Given the description of an element on the screen output the (x, y) to click on. 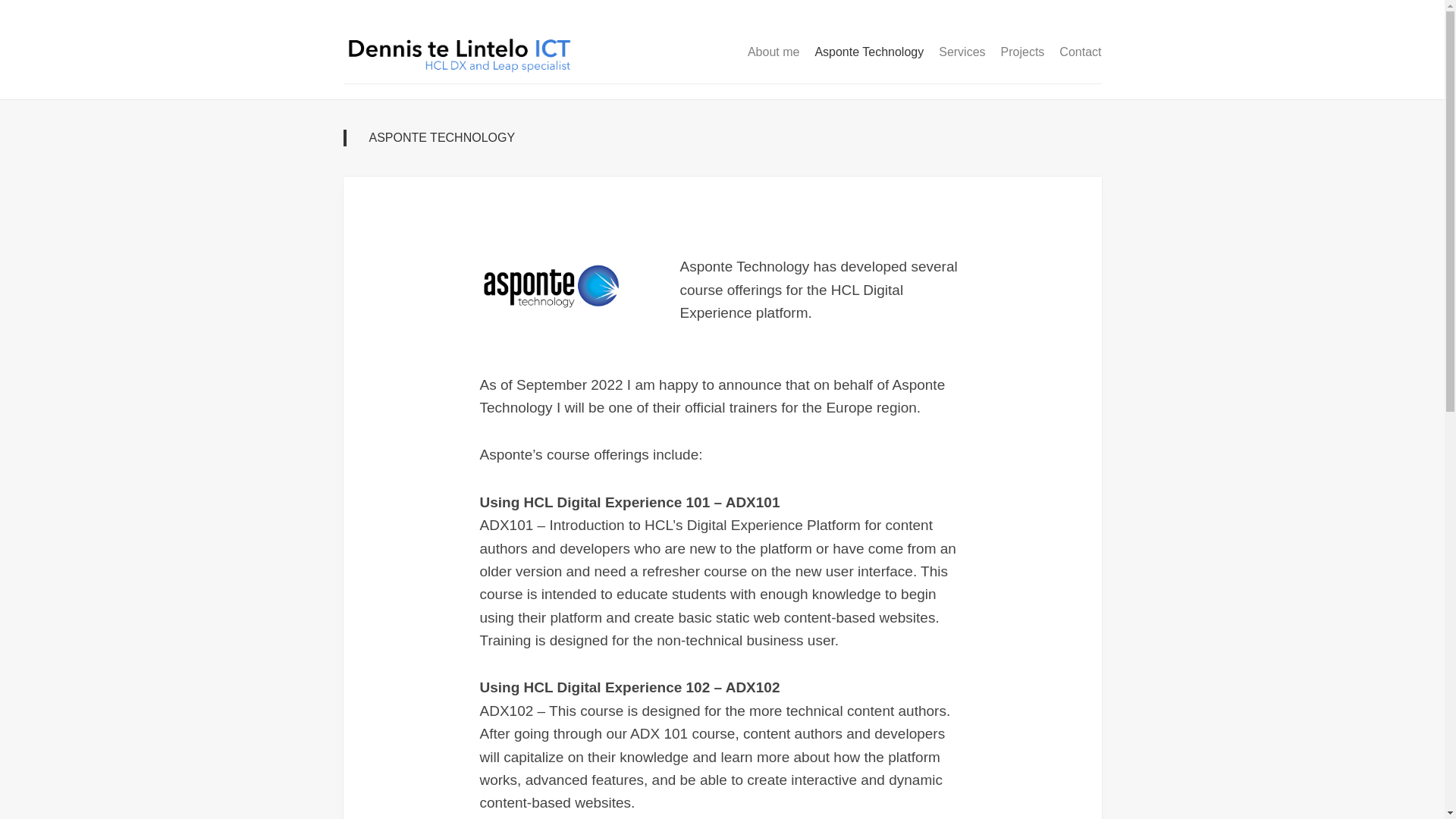
Asponte Technology (868, 52)
Projects (1023, 52)
Services (962, 52)
About me (773, 52)
Contact (1079, 52)
